Given the description of an element on the screen output the (x, y) to click on. 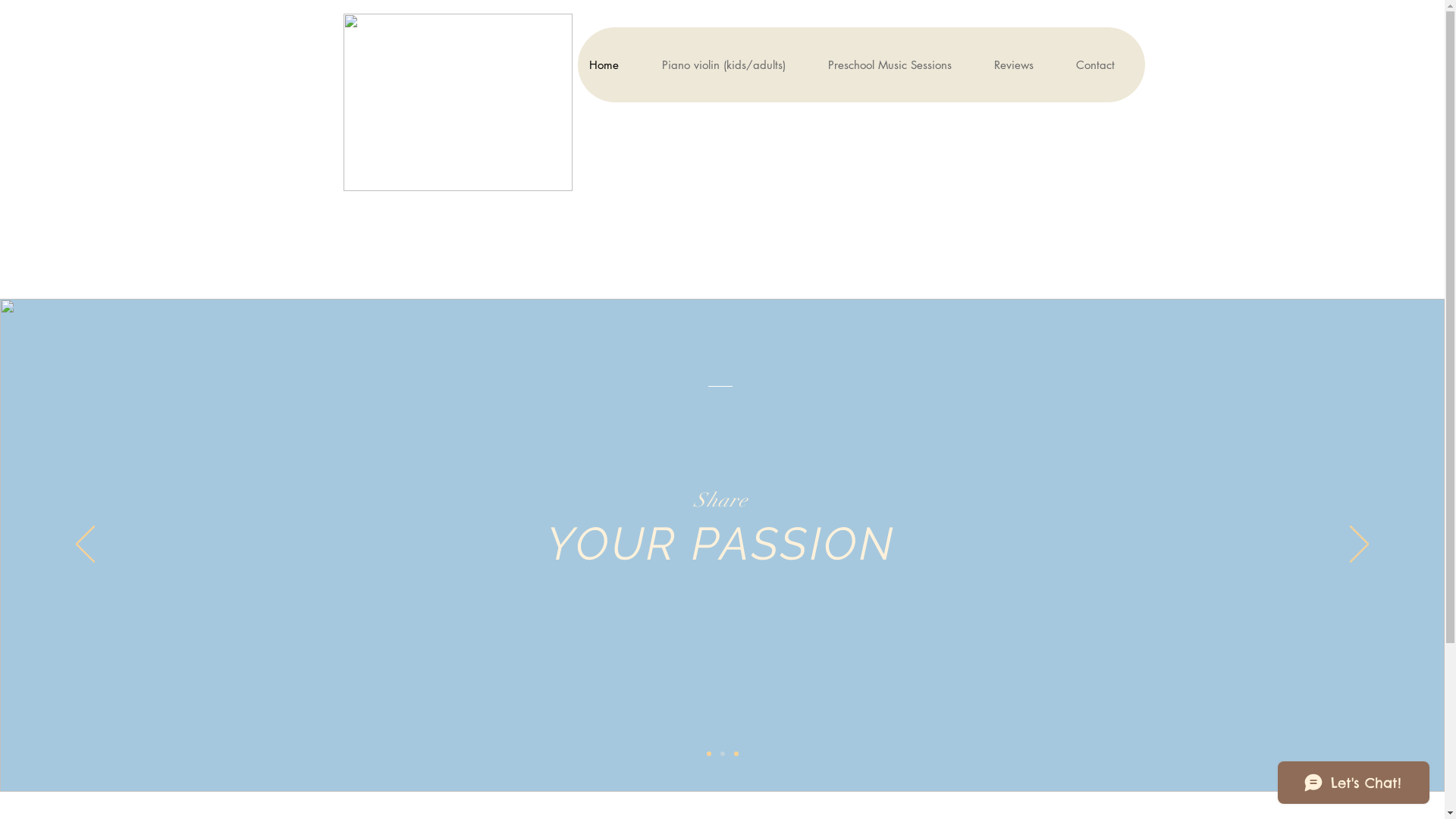
Home Element type: text (613, 64)
Preschool Music Sessions Element type: text (898, 64)
Piano violin (kids/adults) Element type: text (732, 64)
Contact Element type: text (1103, 64)
Reviews Element type: text (1022, 64)
